Given the description of an element on the screen output the (x, y) to click on. 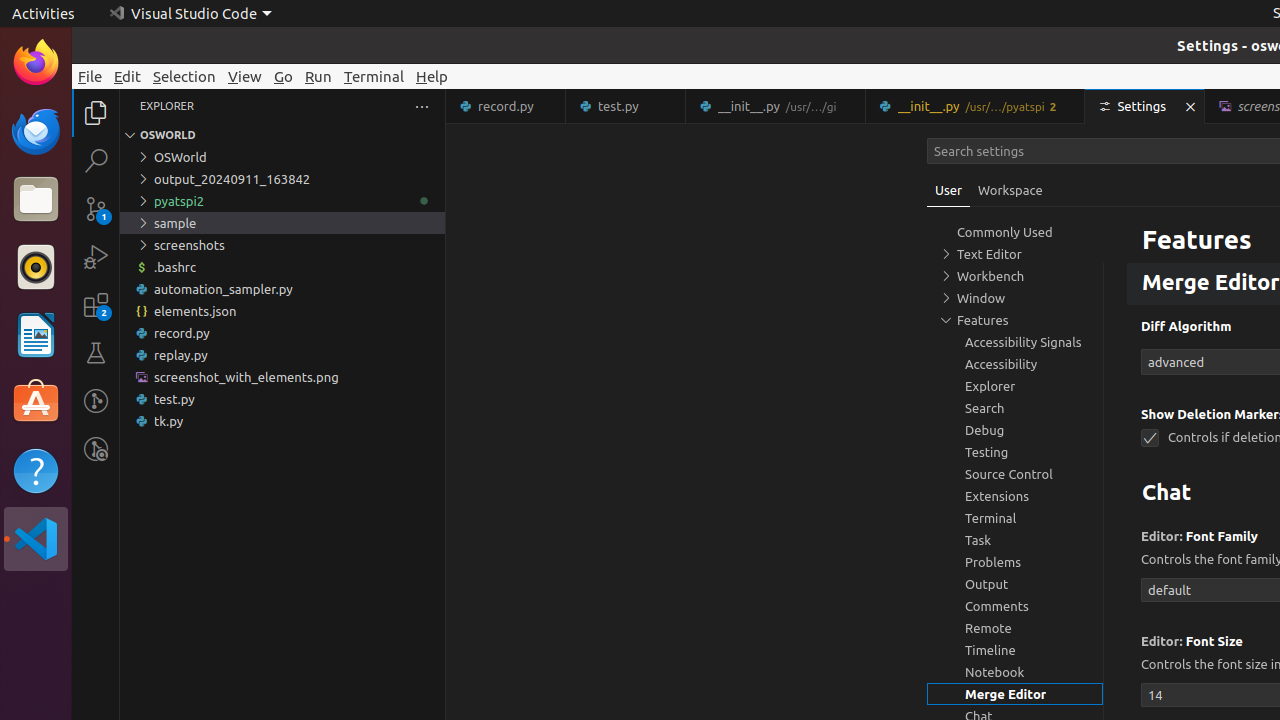
Comments, group Element type: tree-item (1015, 606)
Selection Element type: push-button (184, 76)
Task, group Element type: tree-item (1015, 540)
Extensions (Ctrl+Shift+X) - 2 require restart Extensions (Ctrl+Shift+X) - 2 require restart Element type: page-tab (96, 305)
test.py Element type: tree-item (282, 399)
